Given the description of an element on the screen output the (x, y) to click on. 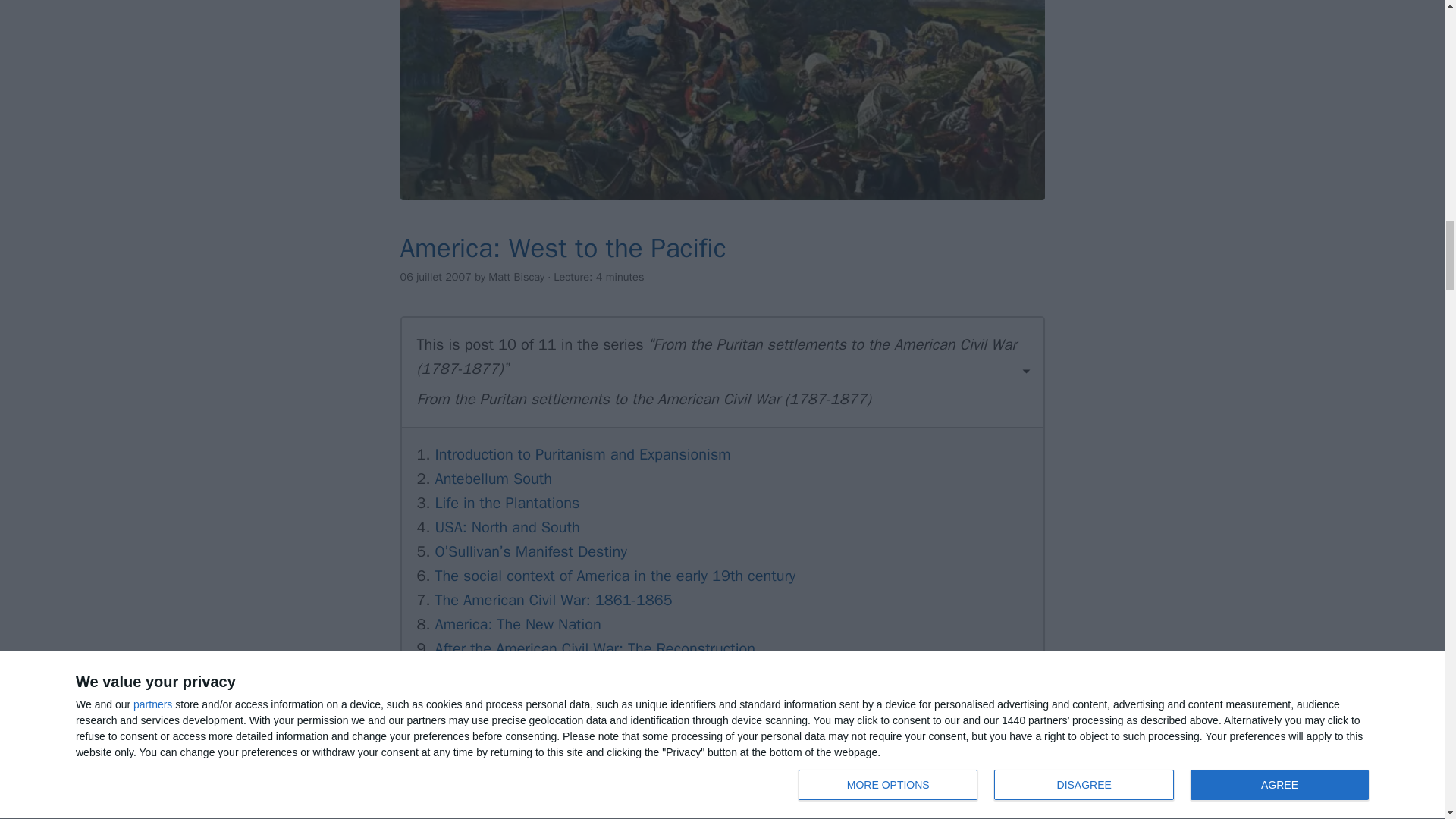
America: West to the Pacific (563, 247)
West to the Pacific (722, 100)
America: The New Nation (516, 624)
Life in the Plantations (506, 502)
The social context of America in the early 19th century (613, 575)
USA: North and South (506, 527)
Introduction to Puritanism and Expansionism (581, 454)
Years of Growth (496, 696)
View all posts by Matt Biscay (515, 276)
Antebellum South (492, 478)
After the American Civil War: The Reconstruction (594, 648)
The American Civil War: 1861-1865 (552, 599)
Matt Biscay (515, 276)
